Given the description of an element on the screen output the (x, y) to click on. 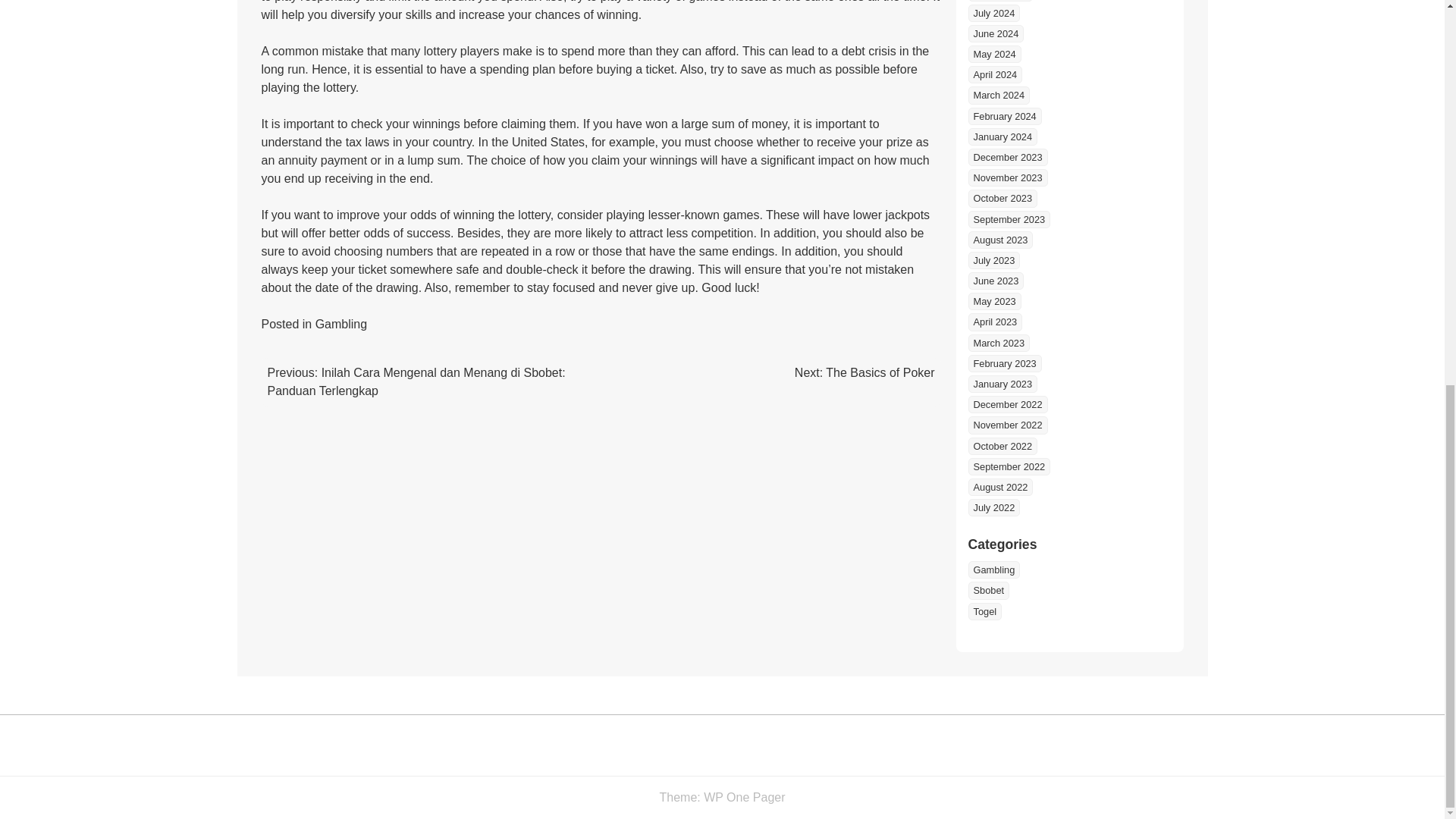
February 2024 (1004, 116)
October 2022 (1002, 446)
December 2022 (1007, 404)
March 2023 (998, 343)
Next: The Basics of Poker (864, 372)
July 2022 (994, 507)
August 2024 (1000, 0)
Gambling (994, 569)
July 2023 (994, 260)
May 2024 (994, 54)
